Given the description of an element on the screen output the (x, y) to click on. 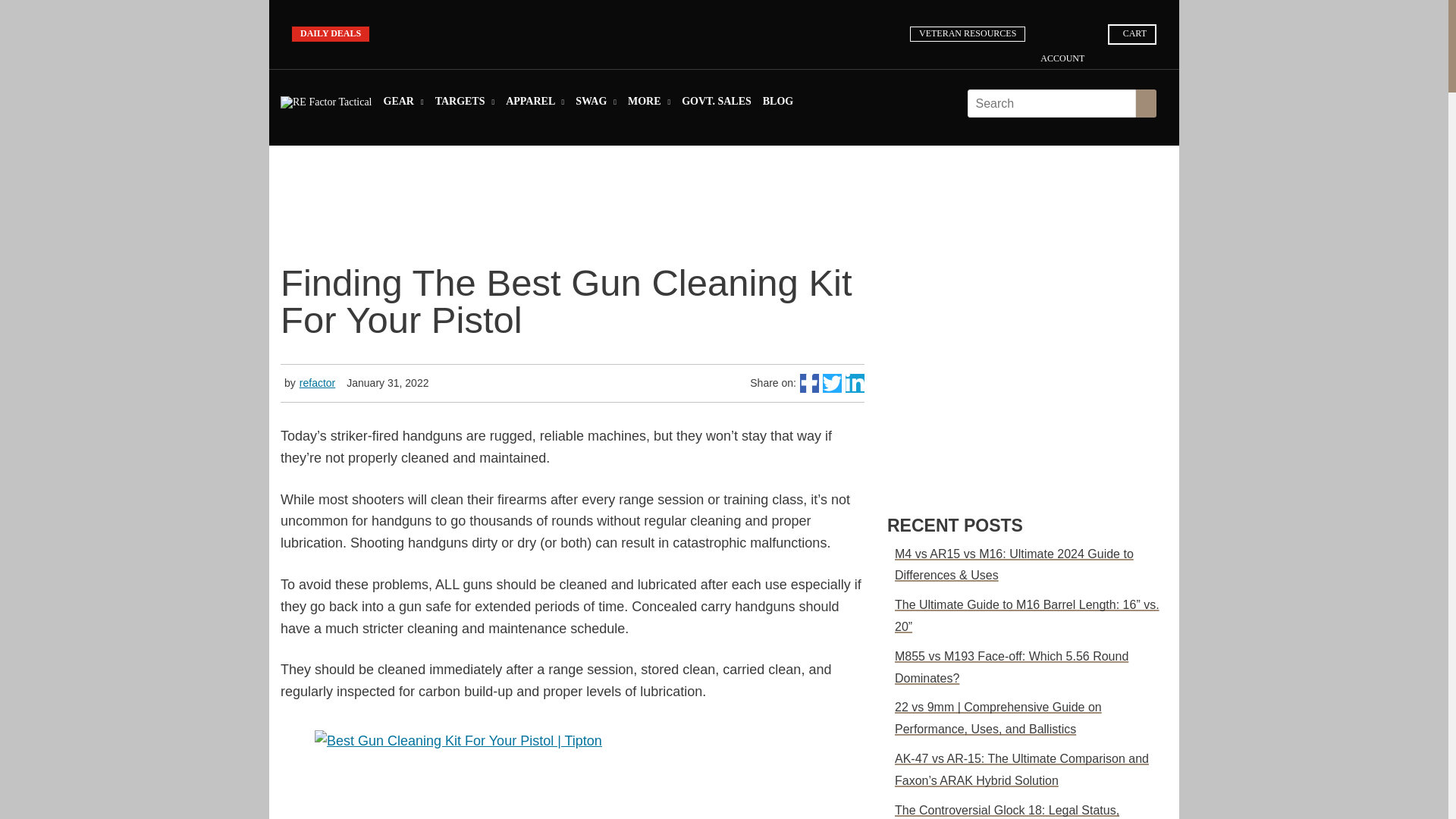
TARGETS (465, 104)
GEAR (403, 104)
Gear (403, 104)
CART (1131, 34)
Targets (465, 104)
DAILY DEALS (330, 33)
APPAREL (534, 104)
SWAG (595, 104)
VETERAN RESOURCES (967, 33)
ACCOUNT (1067, 53)
Apparel (534, 104)
